Given the description of an element on the screen output the (x, y) to click on. 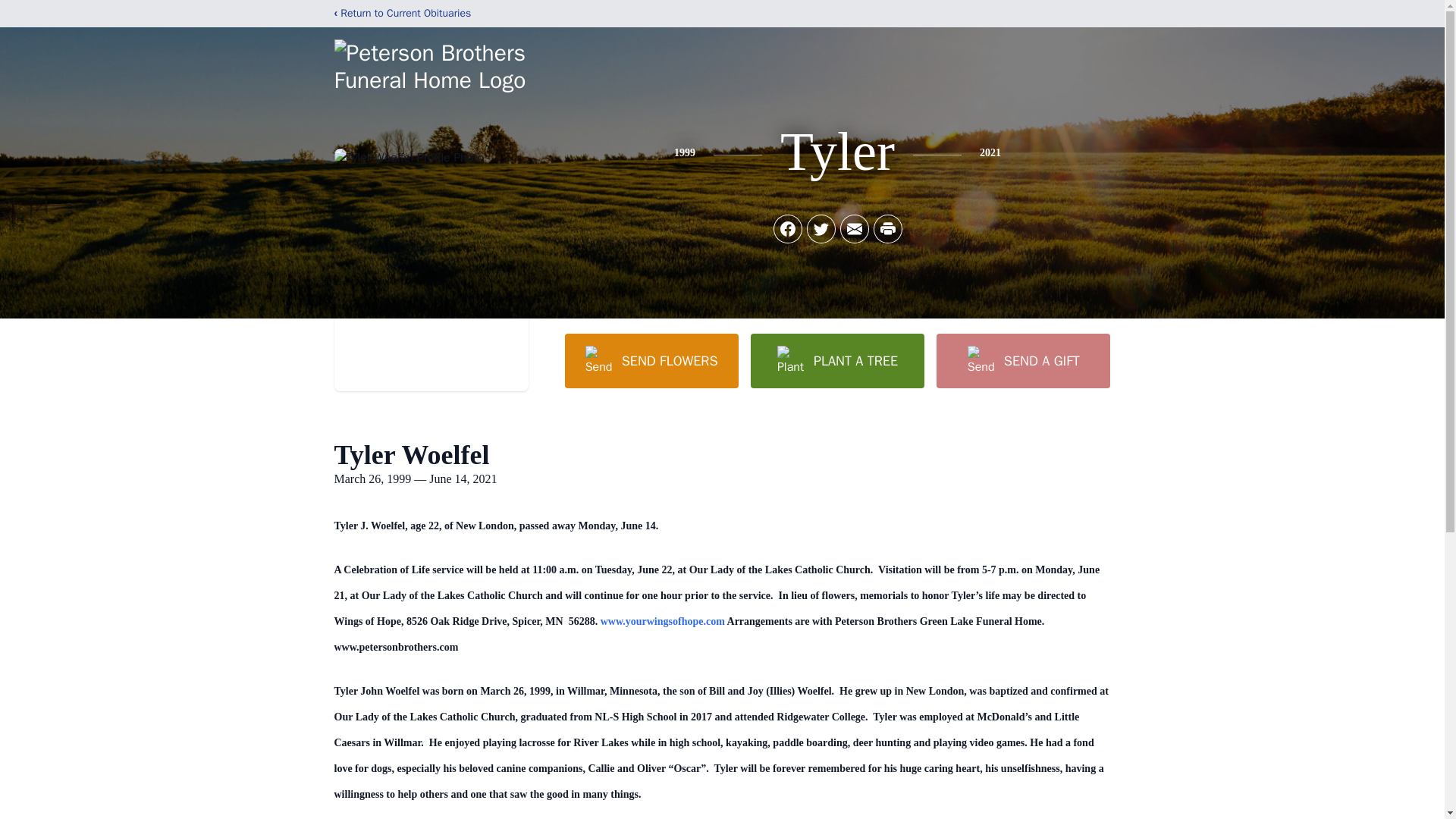
SEND FLOWERS (651, 360)
www.yourwingsofhope.com (662, 621)
PLANT A TREE (837, 360)
SEND A GIFT (1022, 360)
